Given the description of an element on the screen output the (x, y) to click on. 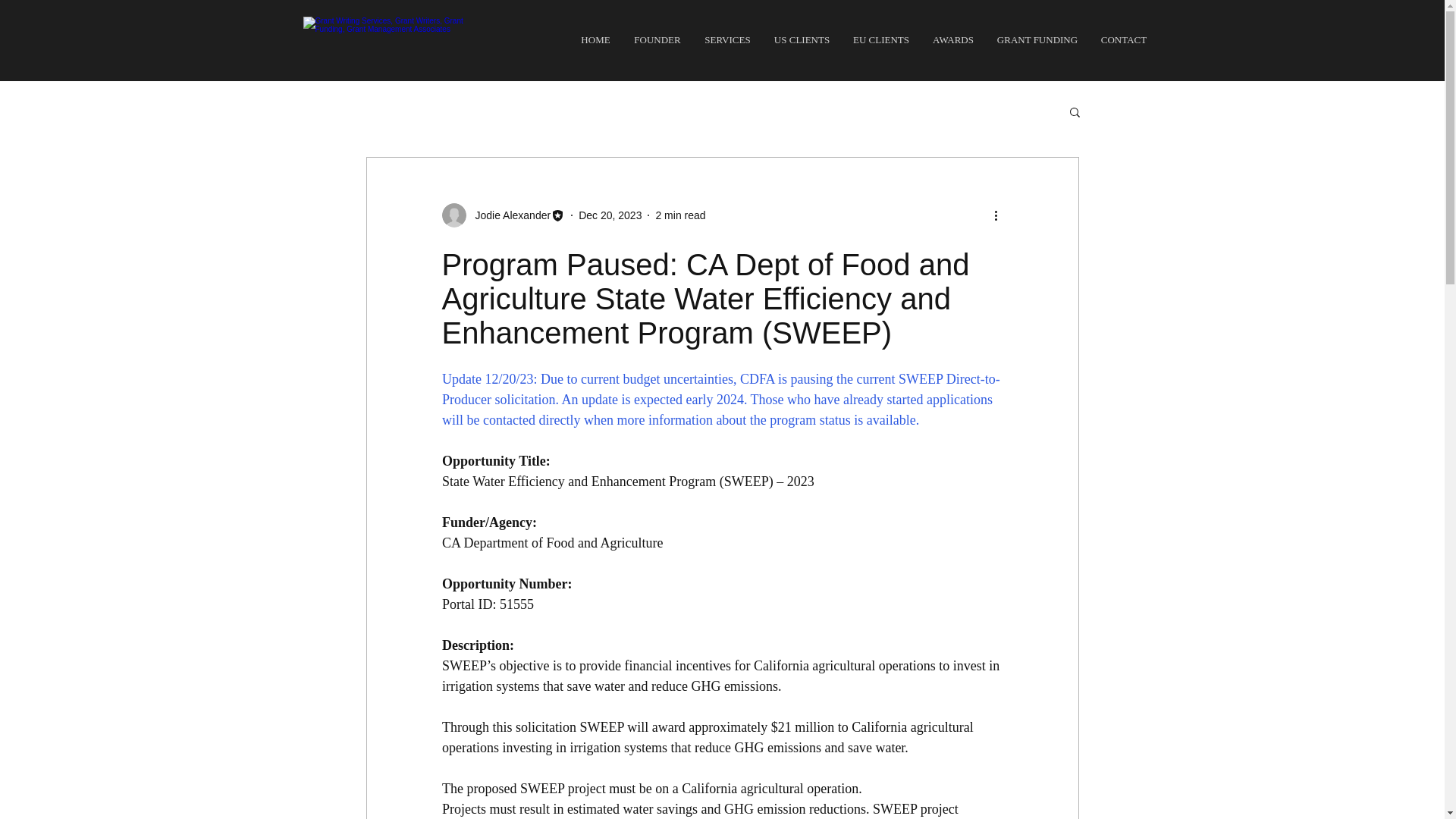
FOUNDER (657, 39)
GRANT FUNDING (1037, 39)
Jodie Alexander (507, 215)
EU CLIENTS (881, 39)
CONTACT (1123, 39)
HOME (595, 39)
Dec 20, 2023 (610, 215)
2 min read (679, 215)
AWARDS (952, 39)
